Given the description of an element on the screen output the (x, y) to click on. 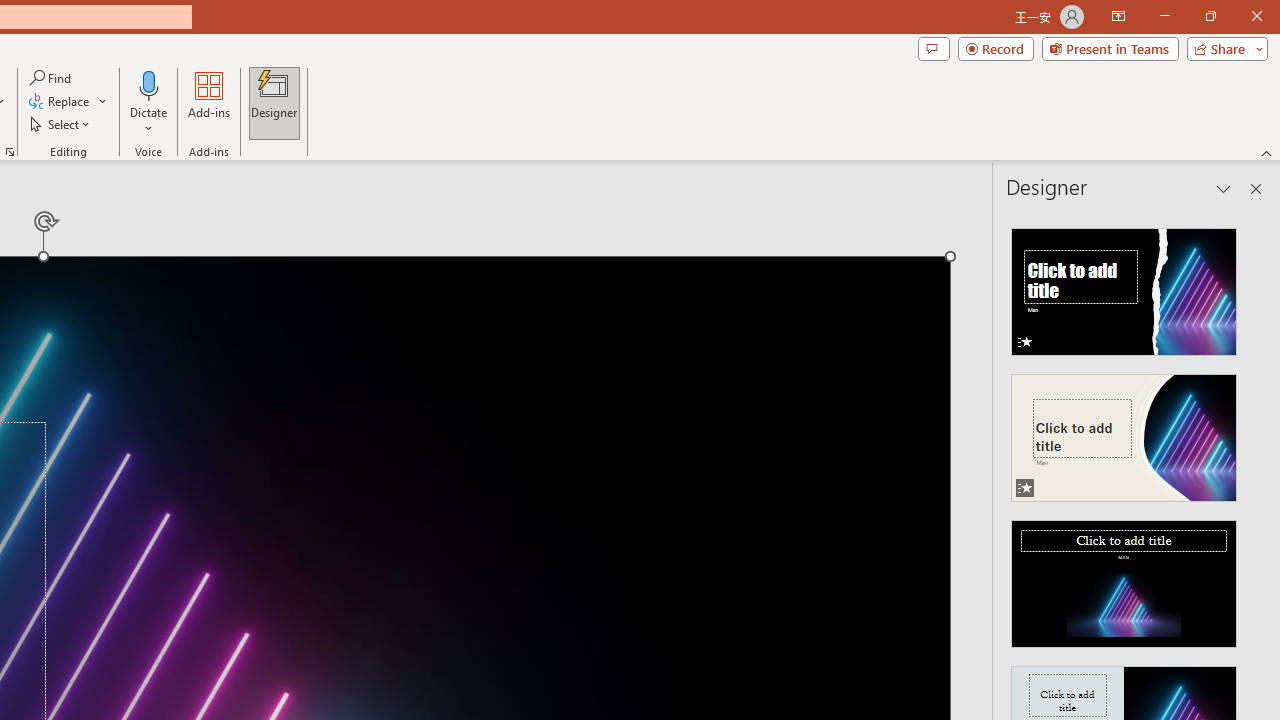
Recommended Design: Animation (1124, 286)
